Given the description of an element on the screen output the (x, y) to click on. 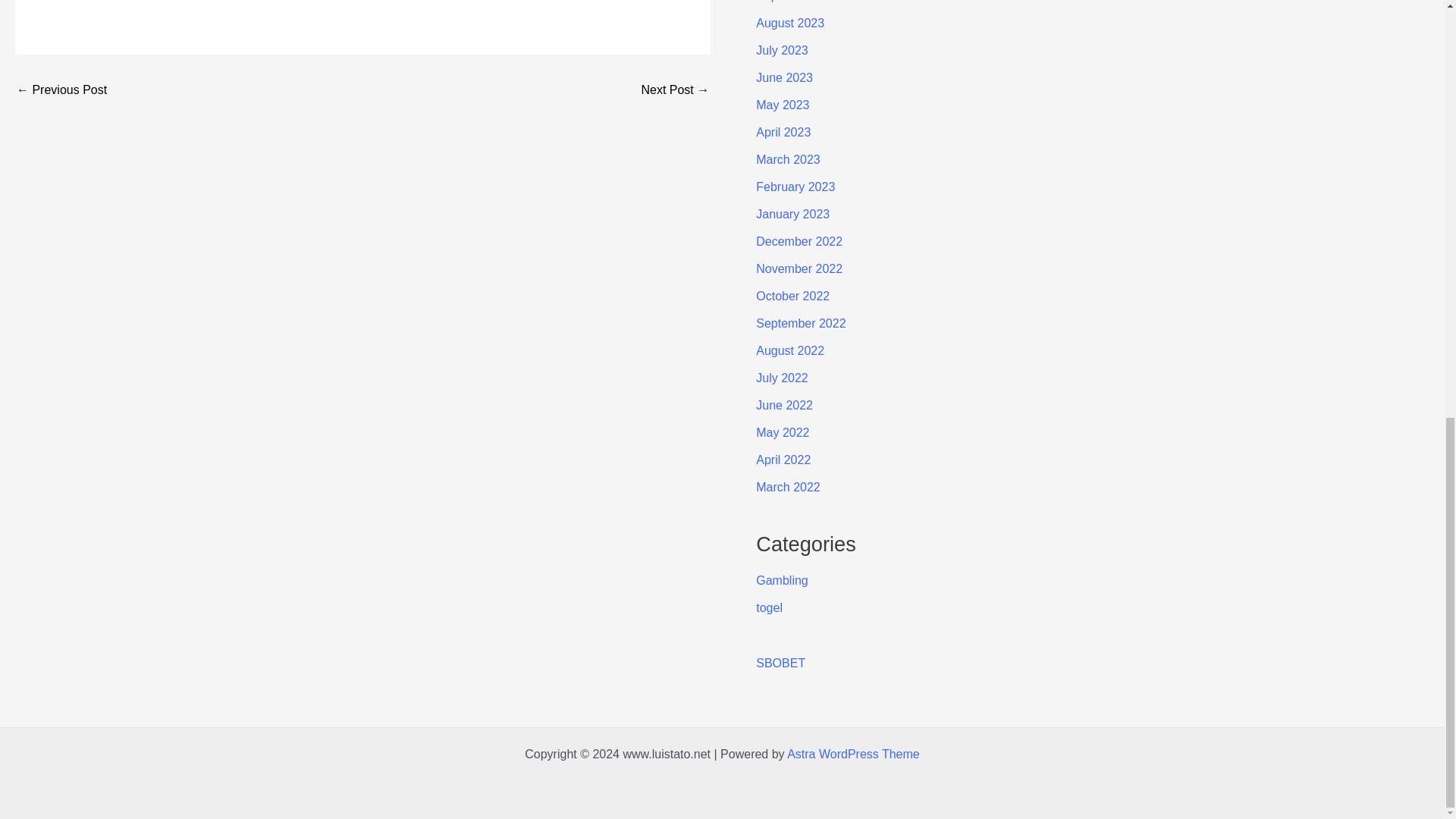
September 2023 (800, 1)
April 2023 (782, 132)
January 2023 (792, 214)
July 2023 (781, 50)
August 2023 (789, 22)
September 2022 (800, 323)
December 2022 (799, 241)
November 2022 (799, 268)
The Odds of Winning a Lottery (61, 90)
February 2023 (794, 186)
October 2022 (792, 295)
March 2023 (788, 159)
June 2023 (783, 77)
What is a Slot? (674, 90)
May 2023 (782, 104)
